Given the description of an element on the screen output the (x, y) to click on. 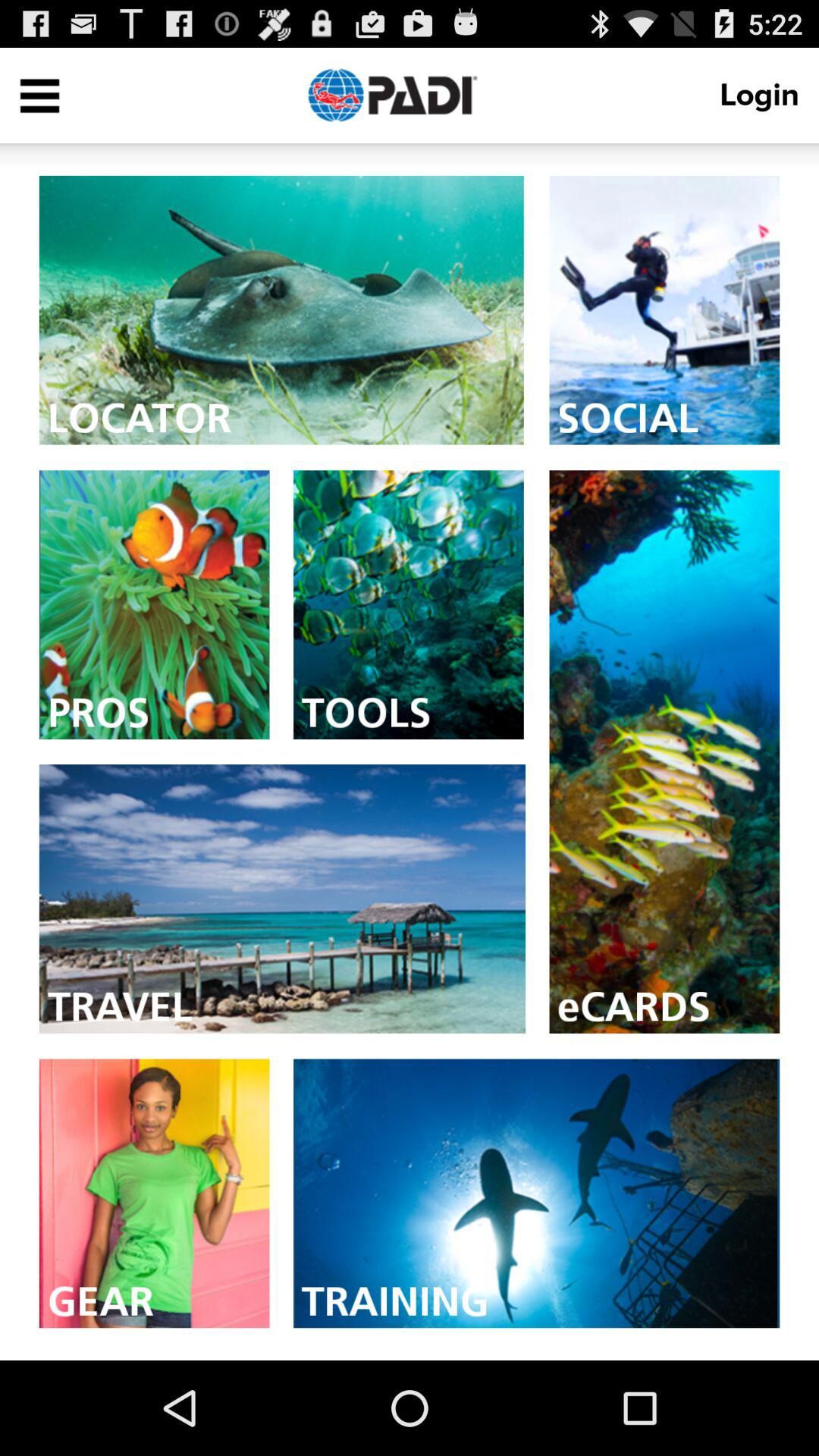
turn off login item (764, 95)
